Given the description of an element on the screen output the (x, y) to click on. 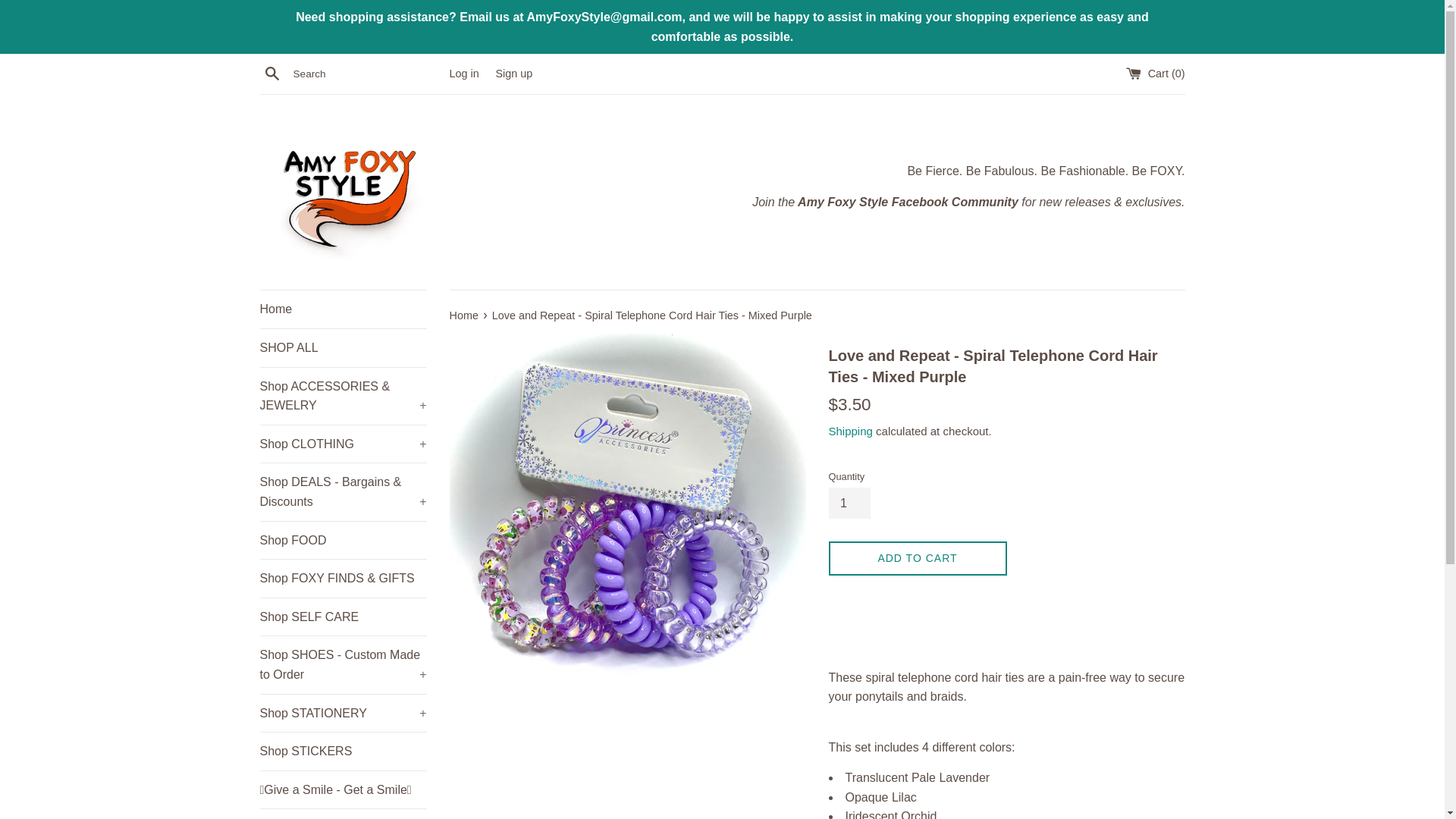
Shop FOOD (342, 540)
Search (271, 73)
Log in (463, 73)
Sign up (513, 73)
SHOP ALL (342, 347)
Back to the frontpage (464, 315)
Amy Foxy Style Facebook Community (905, 201)
Home (342, 309)
1 (848, 503)
Shop SELF CARE (342, 617)
Amy Foxy Style Facebook Community (905, 201)
